Given the description of an element on the screen output the (x, y) to click on. 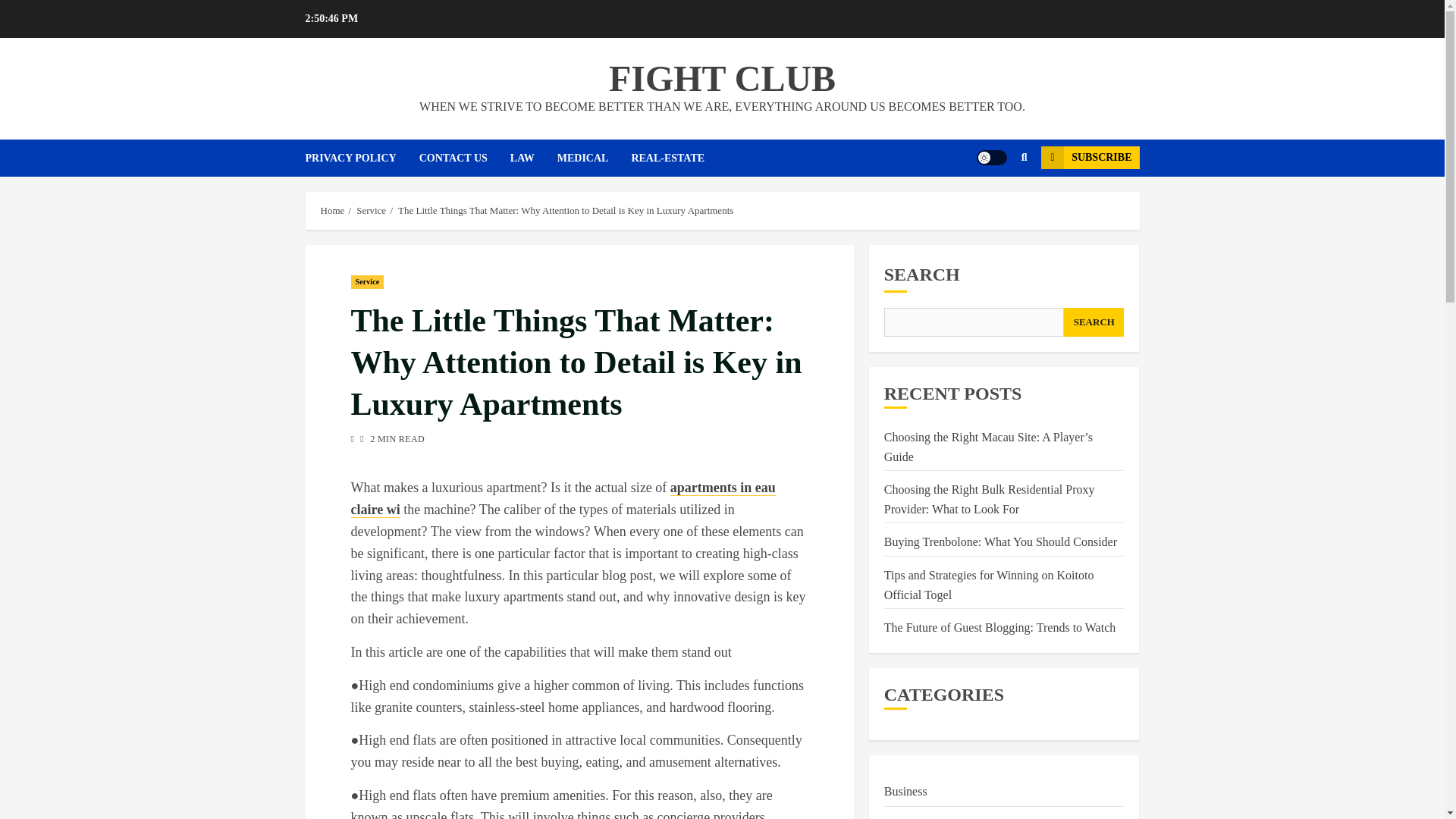
apartments in eau claire wi (562, 498)
Tips and Strategies for Winning on Koitoto Official Togel (988, 584)
MEDICAL (594, 157)
Business (905, 792)
SUBSCRIBE (1089, 157)
PRIVACY POLICY (361, 157)
SEARCH (1094, 321)
LAW (534, 157)
REAL-ESTATE (678, 157)
Buying Trenbolone: What You Should Consider (999, 541)
CONTACT US (465, 157)
Service (367, 282)
Search (994, 203)
Home (331, 210)
